Given the description of an element on the screen output the (x, y) to click on. 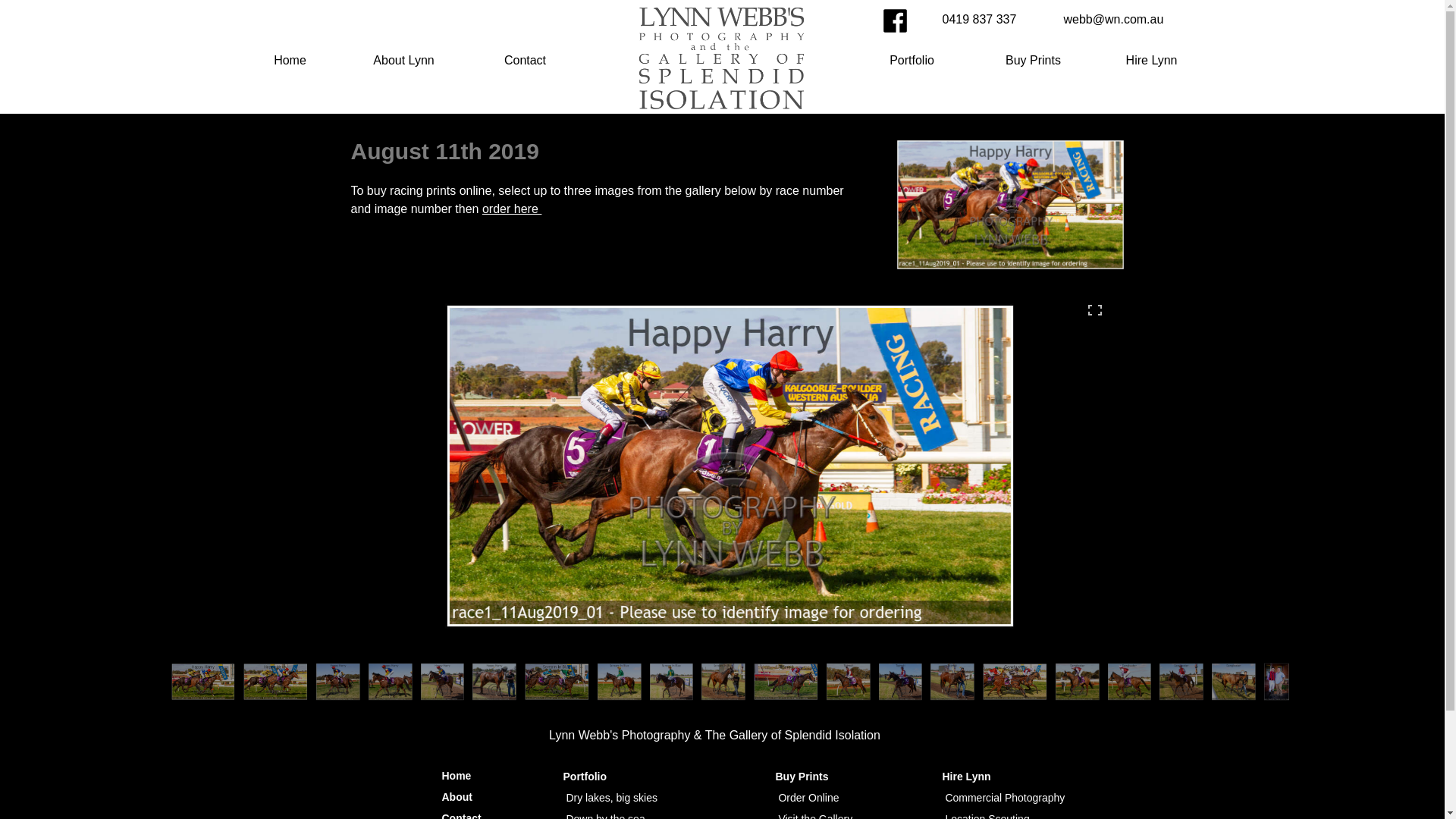
0419 837 337 Element type: text (983, 19)
Hire Lynn Element type: text (1138, 61)
Toggle fullscreen Element type: hover (1093, 309)
Home Element type: text (289, 61)
About Element type: text (456, 796)
About Lynn Element type: text (403, 61)
Portfolio Element type: text (911, 61)
Dry lakes, big skies Element type: text (611, 797)
Order Online Element type: text (808, 797)
webb@wn.com.au Element type: text (1123, 19)
Contact Element type: text (524, 61)
Commercial Photography Element type: text (1004, 797)
Buy Prints Element type: text (1032, 61)
order here  Element type: text (511, 208)
Home Element type: text (455, 775)
